Given the description of an element on the screen output the (x, y) to click on. 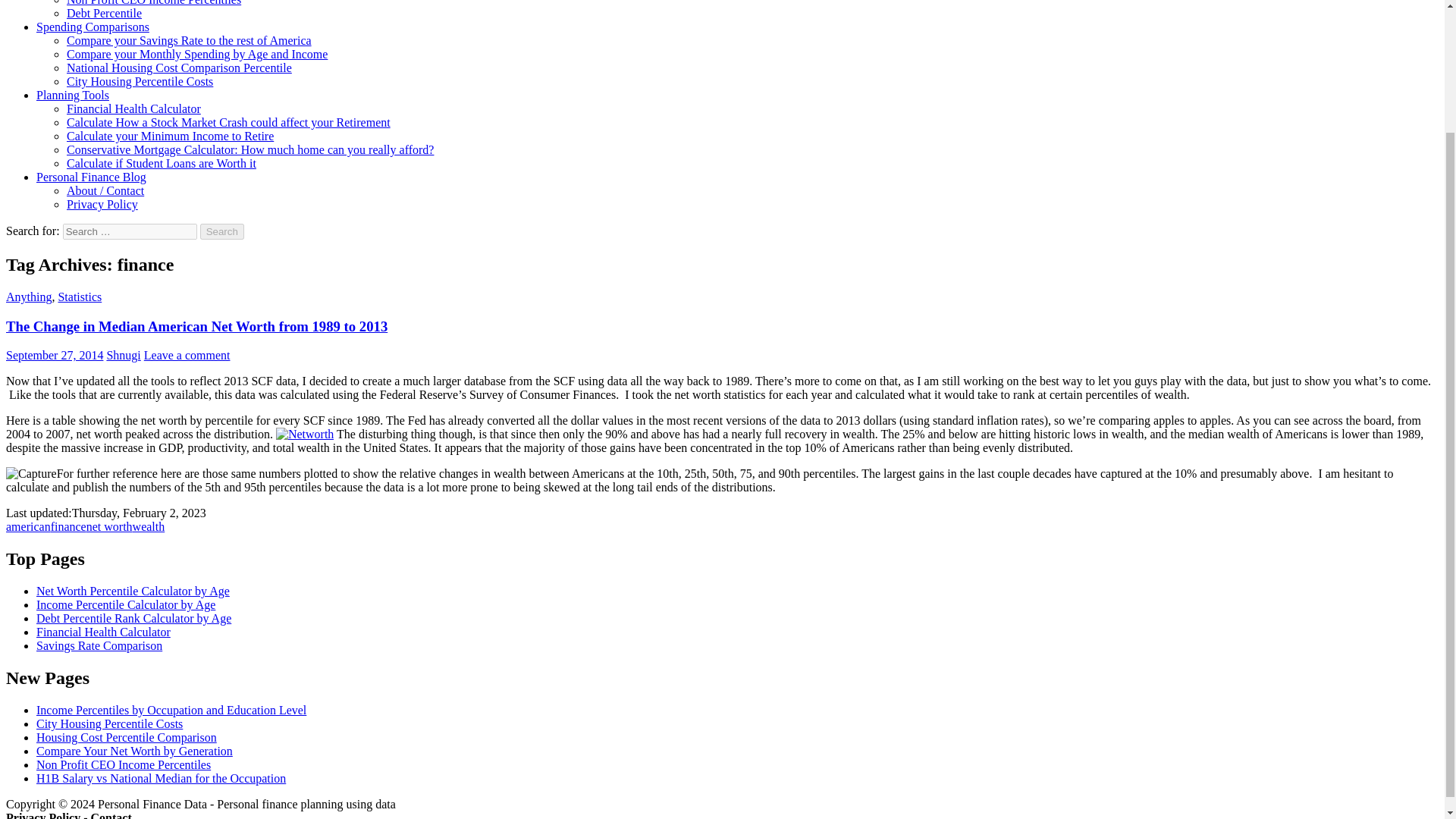
Leave a comment (187, 354)
Personal Finance Blog (91, 176)
September 27, 2014 (54, 354)
Statistics (79, 296)
Search (222, 231)
net worth (108, 526)
Net Worth Percentile Calculator by Age (133, 590)
The Change in Median American Net Worth from 1989 to 2013 (196, 326)
finance (67, 526)
american (27, 526)
Debt Percentile (103, 12)
Spending Comparisons (92, 26)
Calculate your Minimum Income to Retire (169, 135)
